Given the description of an element on the screen output the (x, y) to click on. 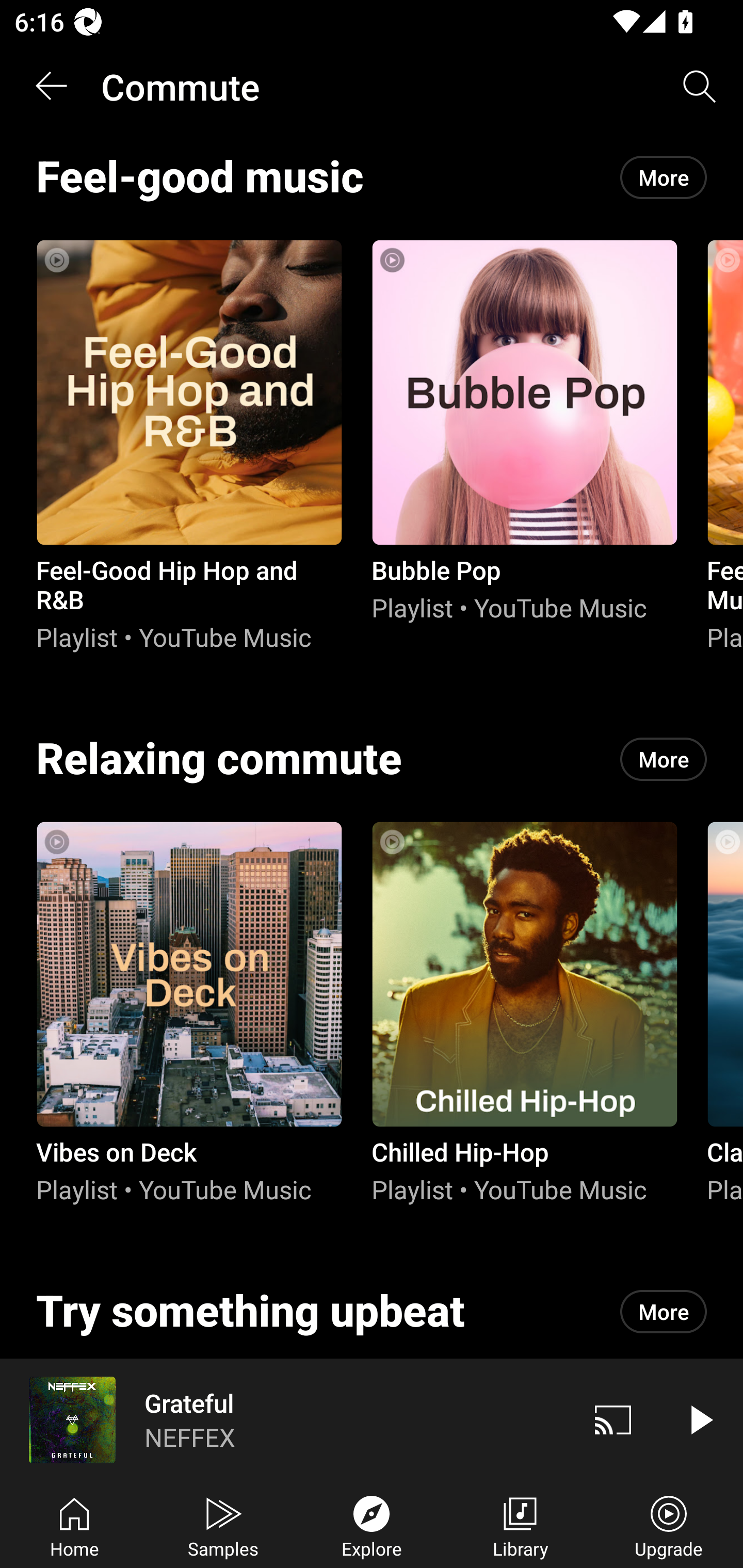
Back (50, 86)
Search (699, 86)
Feel-good music Feel-good music More More (371, 177)
More (663, 177)
Relaxing commute Relaxing commute More More (371, 758)
More (663, 758)
More (663, 1311)
Grateful NEFFEX (284, 1419)
Cast. Disconnected (612, 1419)
Play video (699, 1419)
Home (74, 1524)
Samples (222, 1524)
Library (519, 1524)
Upgrade (668, 1524)
